Given the description of an element on the screen output the (x, y) to click on. 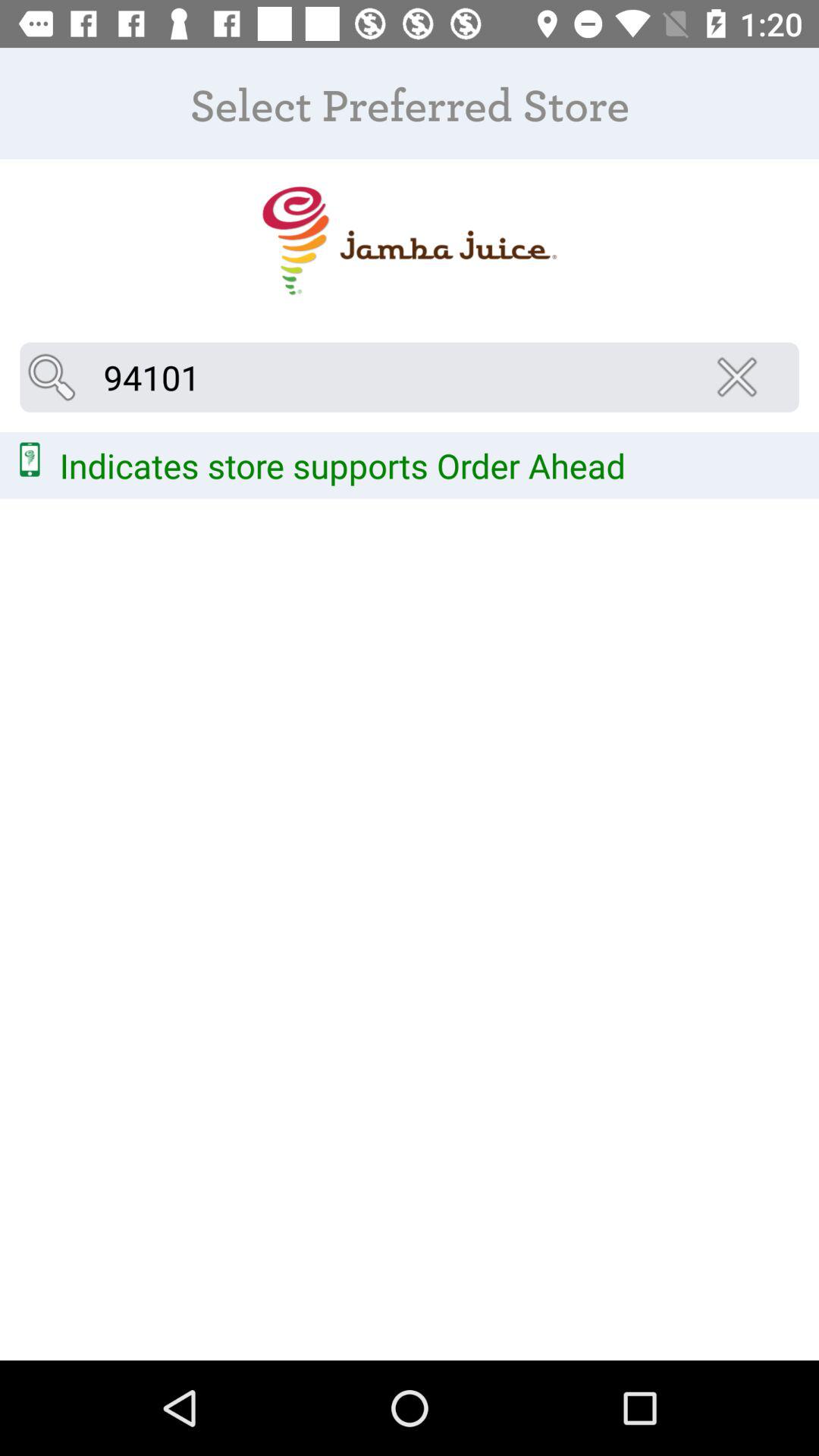
select the element you want to pick (408, 240)
